Given the description of an element on the screen output the (x, y) to click on. 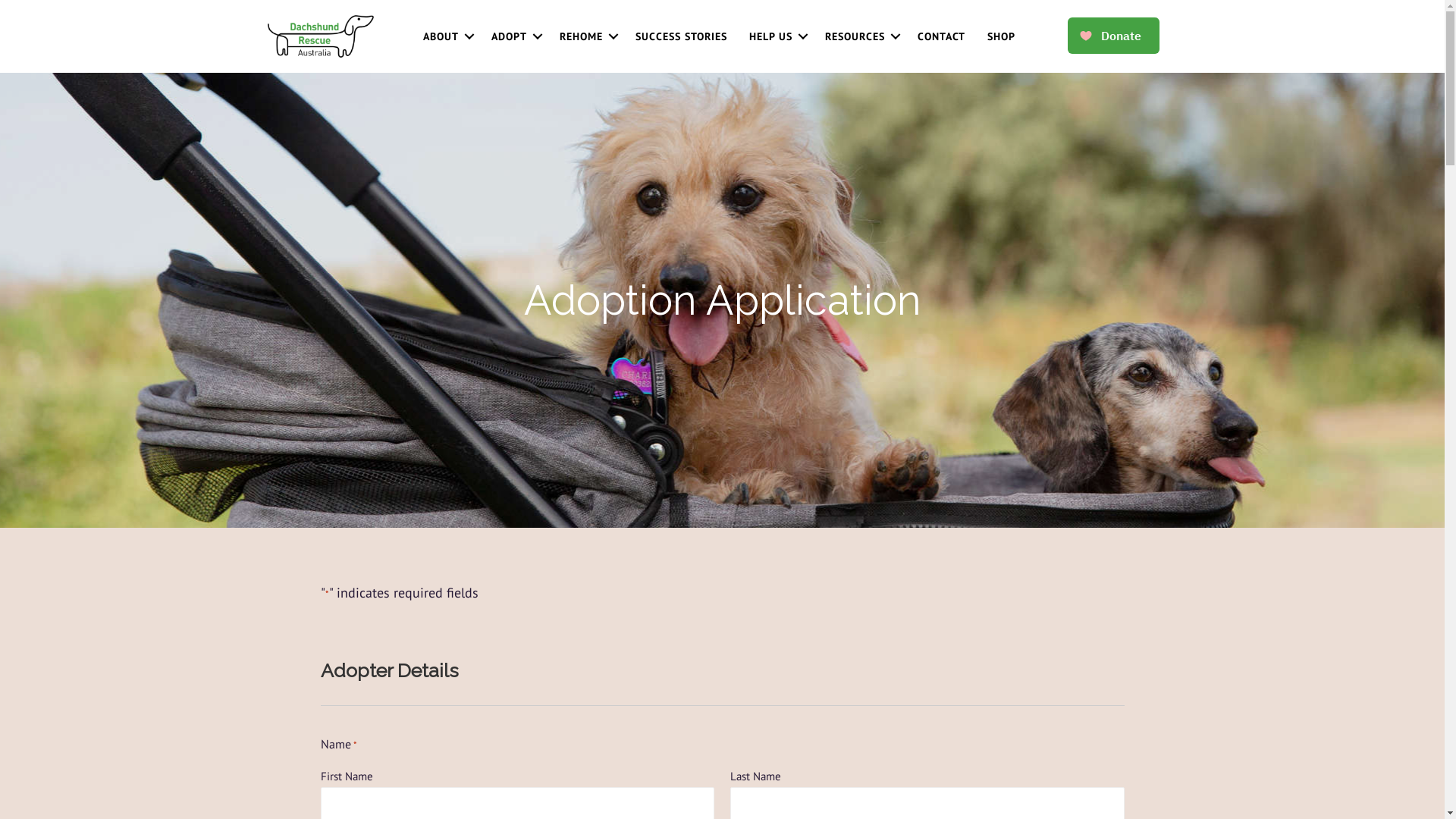
Donate Button Element type: hover (1113, 36)
CONTACT Element type: text (940, 35)
SHOP Element type: text (1001, 35)
Logo Element type: hover (319, 35)
ADOPT Element type: text (514, 35)
HELP US Element type: text (775, 35)
ABOUT Element type: text (446, 35)
REHOME Element type: text (586, 35)
RESOURCES Element type: text (860, 35)
SUCCESS STORIES Element type: text (680, 35)
